Given the description of an element on the screen output the (x, y) to click on. 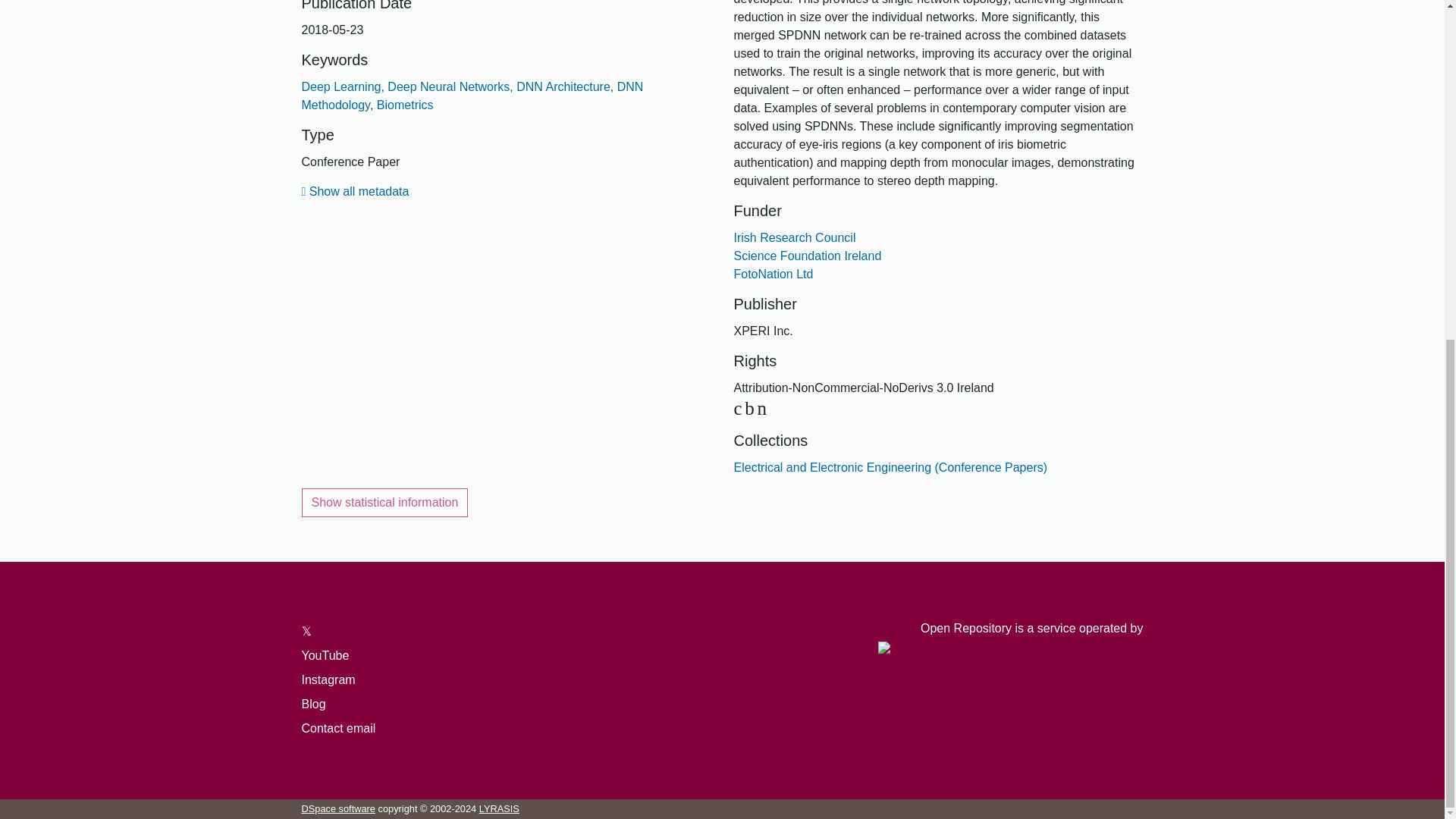
FotoNation Ltd (773, 273)
Show all metadata (355, 191)
DNN Architecture, (563, 86)
Deep Learning, (342, 86)
DNN Methodology, (472, 95)
Attribution-NonCommercial-NoDerivs 3.0 Ireland (751, 408)
Biometrics (402, 104)
Science Foundation Ireland (807, 255)
Deep Neural Networks, (448, 86)
Irish Research Council (794, 237)
cbn (751, 408)
